Given the description of an element on the screen output the (x, y) to click on. 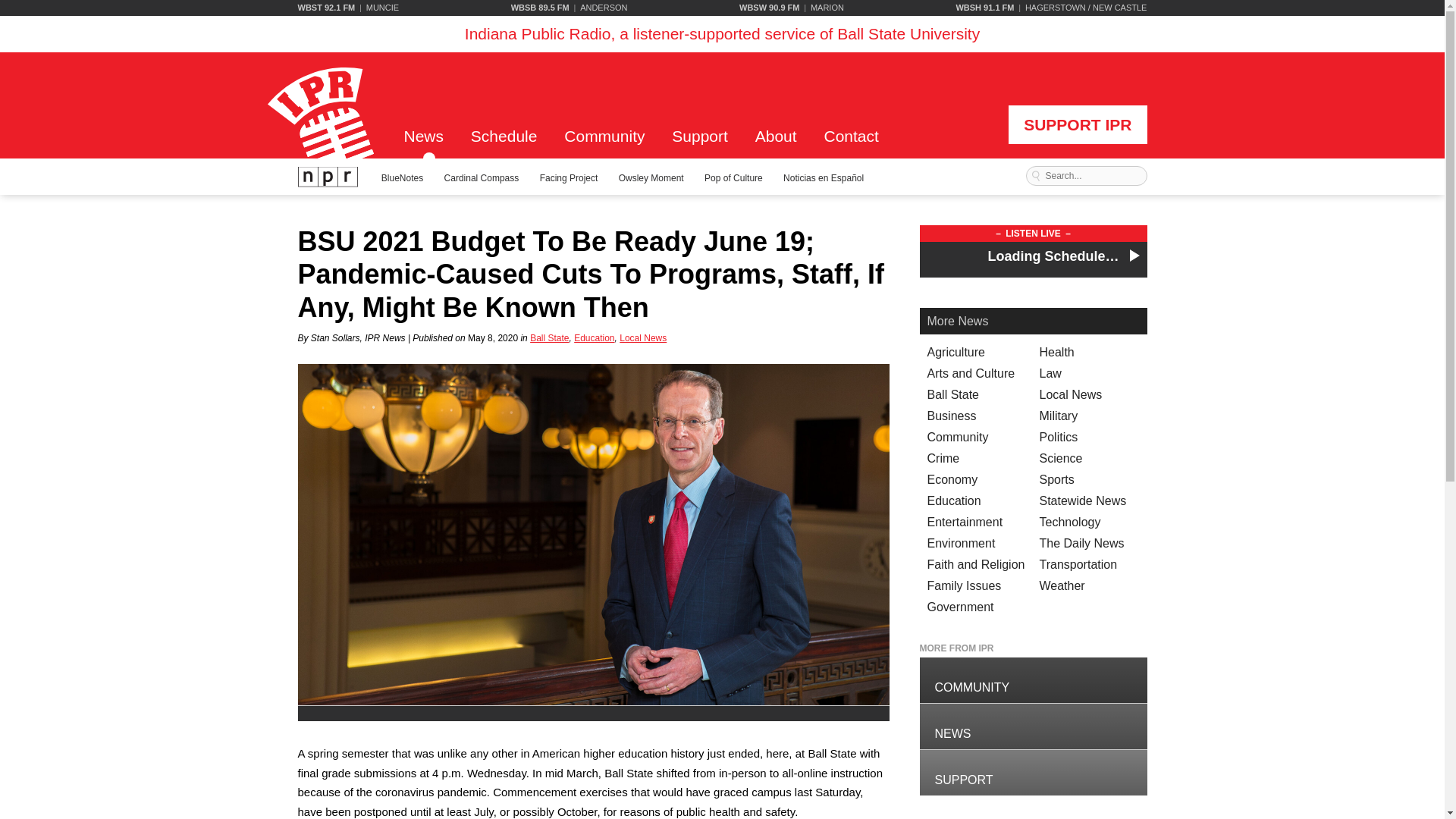
Education (952, 500)
Health (1056, 351)
NPR (327, 177)
Law (1050, 373)
Support (700, 142)
Education (593, 337)
Community (1032, 679)
Family Issues (963, 585)
Owsley Moment (651, 177)
Community (604, 142)
